Given the description of an element on the screen output the (x, y) to click on. 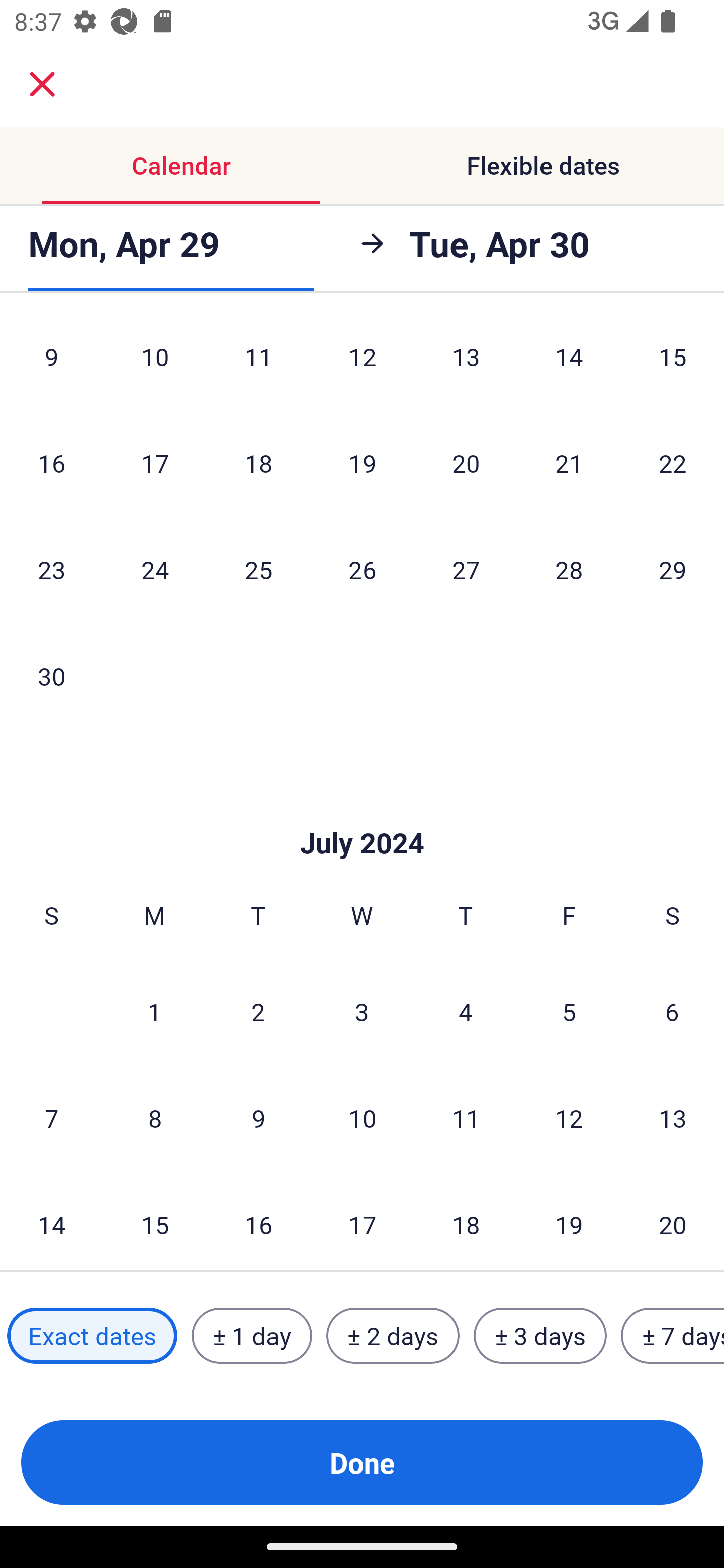
close. (42, 84)
Flexible dates (542, 164)
9 Sunday, June 9, 2024 (51, 364)
10 Monday, June 10, 2024 (155, 364)
11 Tuesday, June 11, 2024 (258, 364)
12 Wednesday, June 12, 2024 (362, 364)
13 Thursday, June 13, 2024 (465, 364)
14 Friday, June 14, 2024 (569, 364)
15 Saturday, June 15, 2024 (672, 364)
16 Sunday, June 16, 2024 (51, 462)
17 Monday, June 17, 2024 (155, 462)
18 Tuesday, June 18, 2024 (258, 462)
19 Wednesday, June 19, 2024 (362, 462)
20 Thursday, June 20, 2024 (465, 462)
21 Friday, June 21, 2024 (569, 462)
22 Saturday, June 22, 2024 (672, 462)
23 Sunday, June 23, 2024 (51, 568)
24 Monday, June 24, 2024 (155, 568)
25 Tuesday, June 25, 2024 (258, 568)
26 Wednesday, June 26, 2024 (362, 568)
27 Thursday, June 27, 2024 (465, 568)
28 Friday, June 28, 2024 (569, 568)
29 Saturday, June 29, 2024 (672, 568)
30 Sunday, June 30, 2024 (51, 675)
Skip to Done (362, 813)
1 Monday, July 1, 2024 (154, 1011)
2 Tuesday, July 2, 2024 (257, 1011)
3 Wednesday, July 3, 2024 (361, 1011)
4 Thursday, July 4, 2024 (465, 1011)
5 Friday, July 5, 2024 (568, 1011)
6 Saturday, July 6, 2024 (672, 1011)
7 Sunday, July 7, 2024 (51, 1117)
8 Monday, July 8, 2024 (155, 1117)
9 Tuesday, July 9, 2024 (258, 1117)
10 Wednesday, July 10, 2024 (362, 1117)
11 Thursday, July 11, 2024 (465, 1117)
12 Friday, July 12, 2024 (569, 1117)
13 Saturday, July 13, 2024 (672, 1117)
14 Sunday, July 14, 2024 (51, 1221)
15 Monday, July 15, 2024 (155, 1221)
16 Tuesday, July 16, 2024 (258, 1221)
17 Wednesday, July 17, 2024 (362, 1221)
18 Thursday, July 18, 2024 (465, 1221)
19 Friday, July 19, 2024 (569, 1221)
20 Saturday, July 20, 2024 (672, 1221)
Exact dates (92, 1335)
± 1 day (251, 1335)
± 2 days (392, 1335)
± 3 days (539, 1335)
± 7 days (672, 1335)
Done (361, 1462)
